Given the description of an element on the screen output the (x, y) to click on. 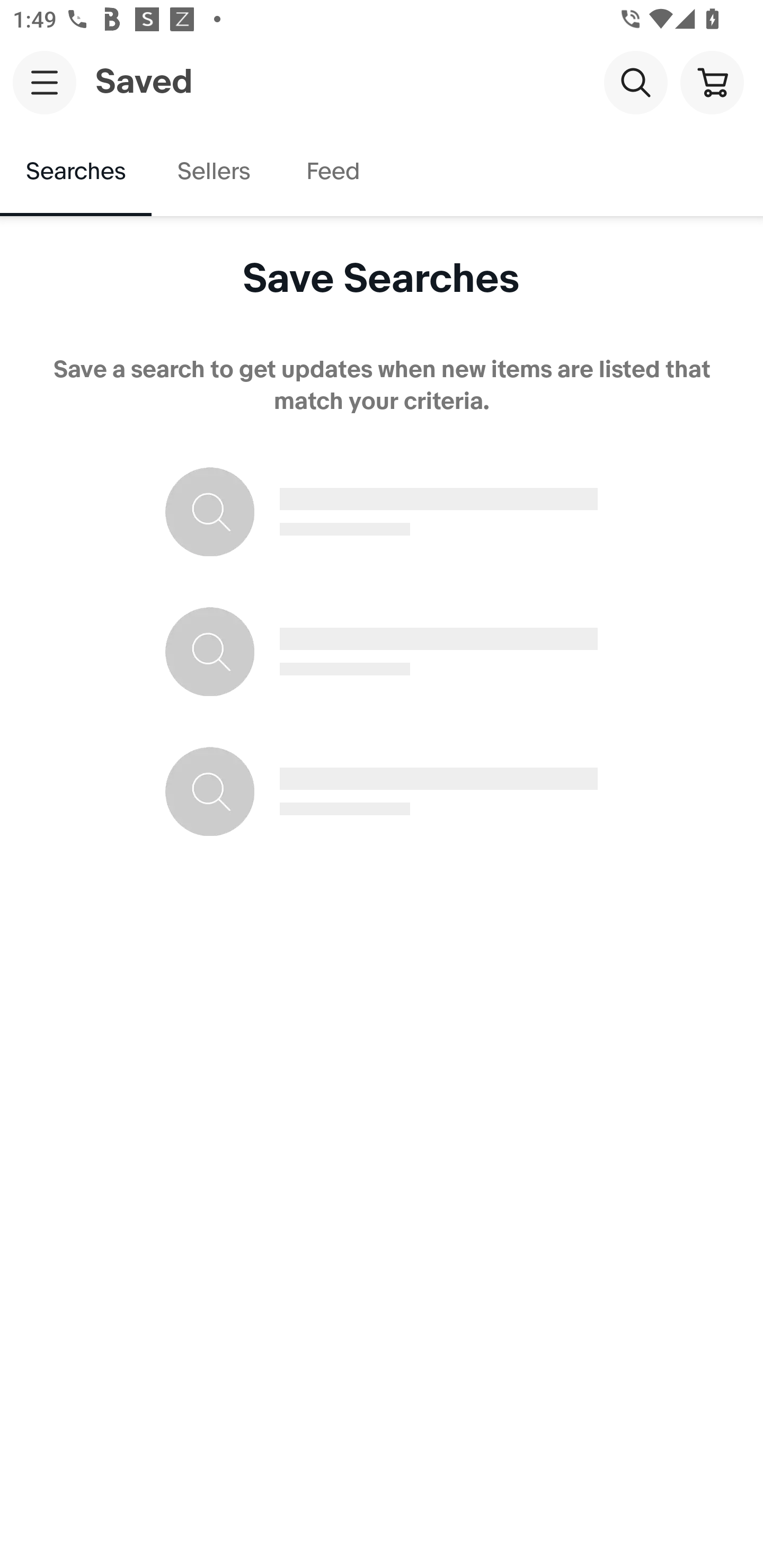
Main navigation, open (44, 82)
Search (635, 81)
Cart button shopping cart (711, 81)
Sellers (213, 171)
Feed (332, 171)
